Given the description of an element on the screen output the (x, y) to click on. 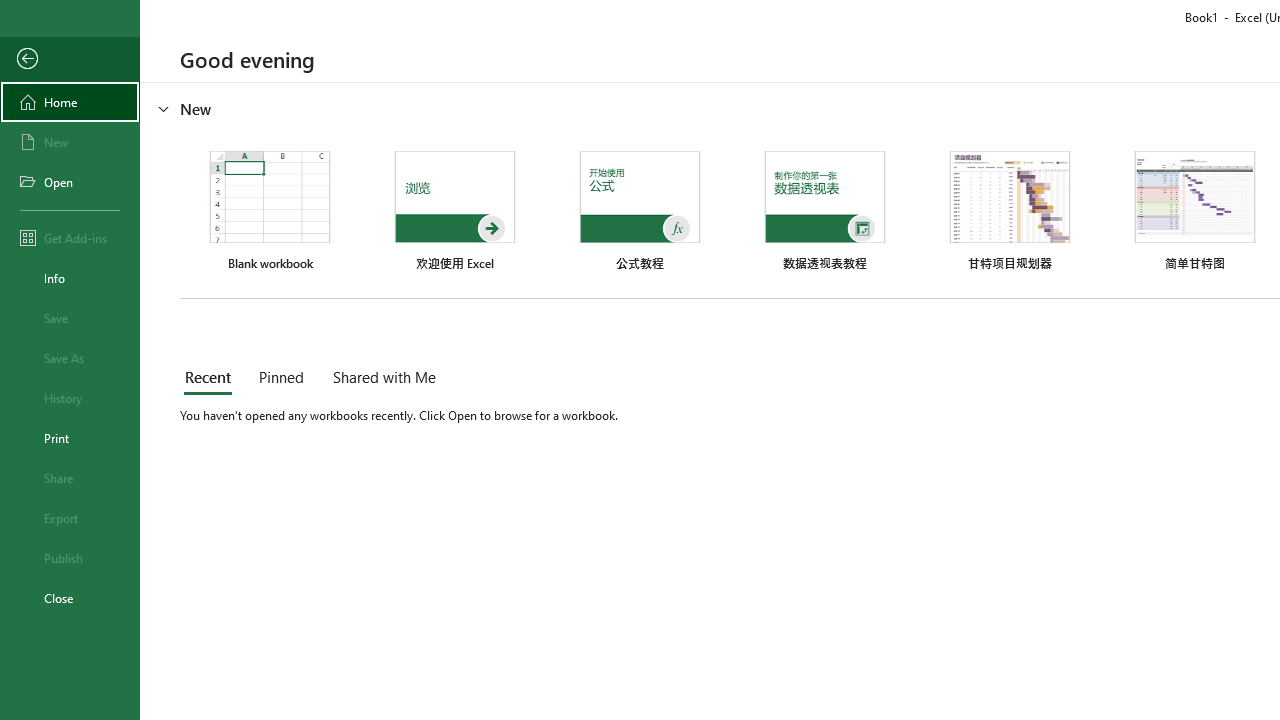
Recent (212, 378)
Pinned (280, 378)
Hide or show region (164, 108)
History (69, 398)
New (69, 141)
